Given the description of an element on the screen output the (x, y) to click on. 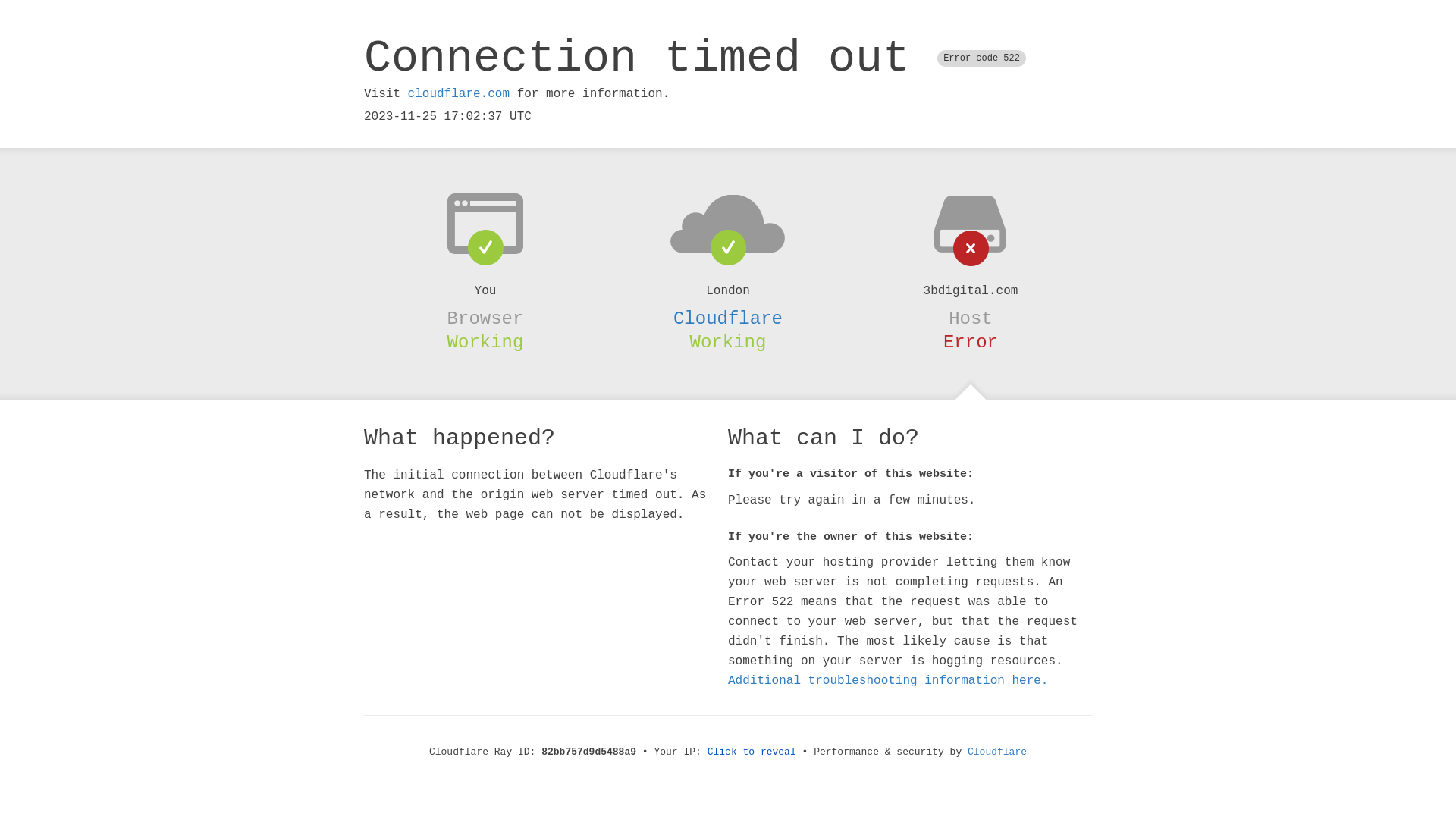
Click to reveal Element type: text (751, 751)
Additional troubleshooting information here. Element type: text (888, 680)
cloudflare.com Element type: text (458, 93)
Cloudflare Element type: text (996, 751)
Cloudflare Element type: text (727, 318)
